Given the description of an element on the screen output the (x, y) to click on. 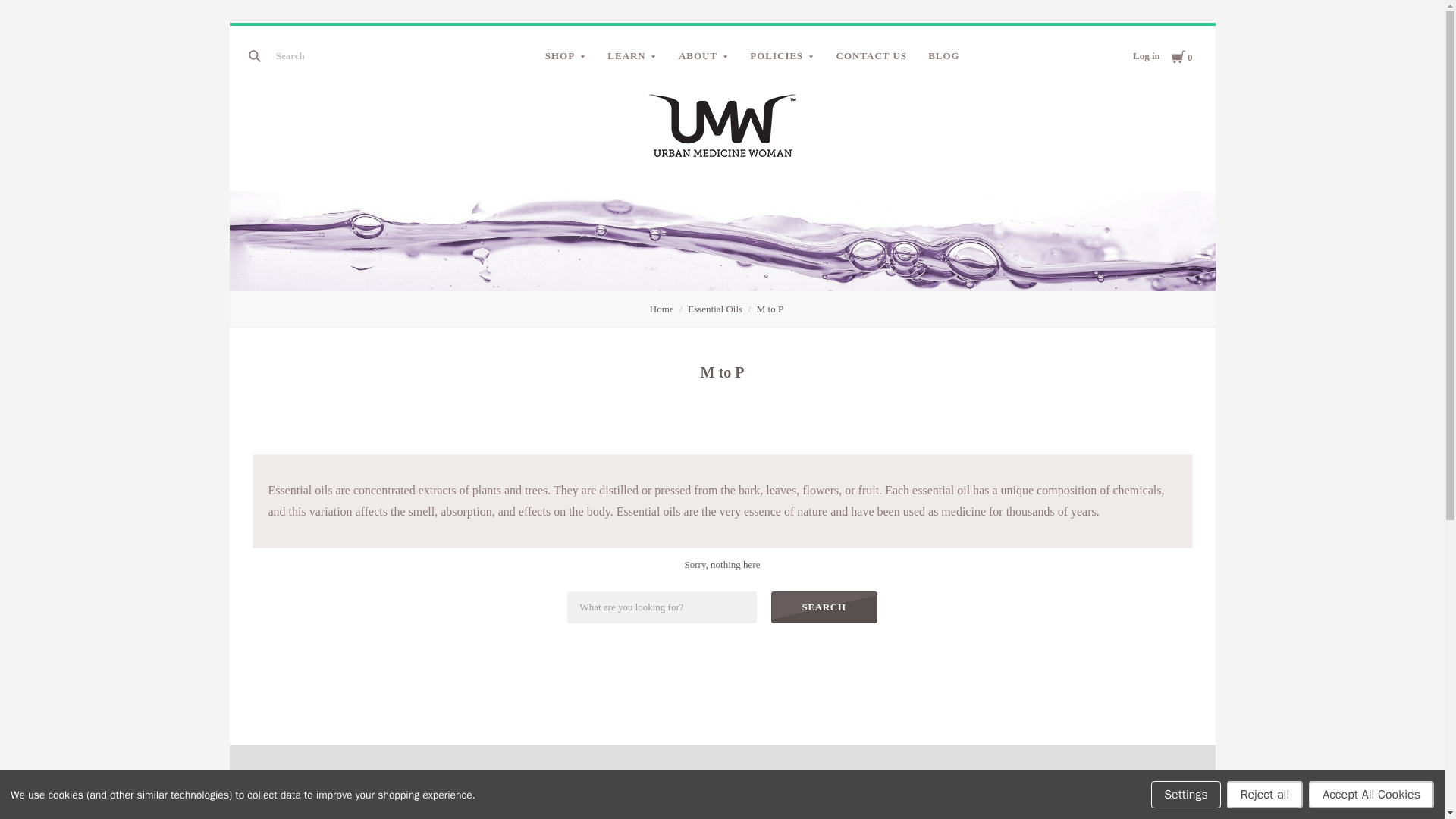
SHOP (565, 56)
